Given the description of an element on the screen output the (x, y) to click on. 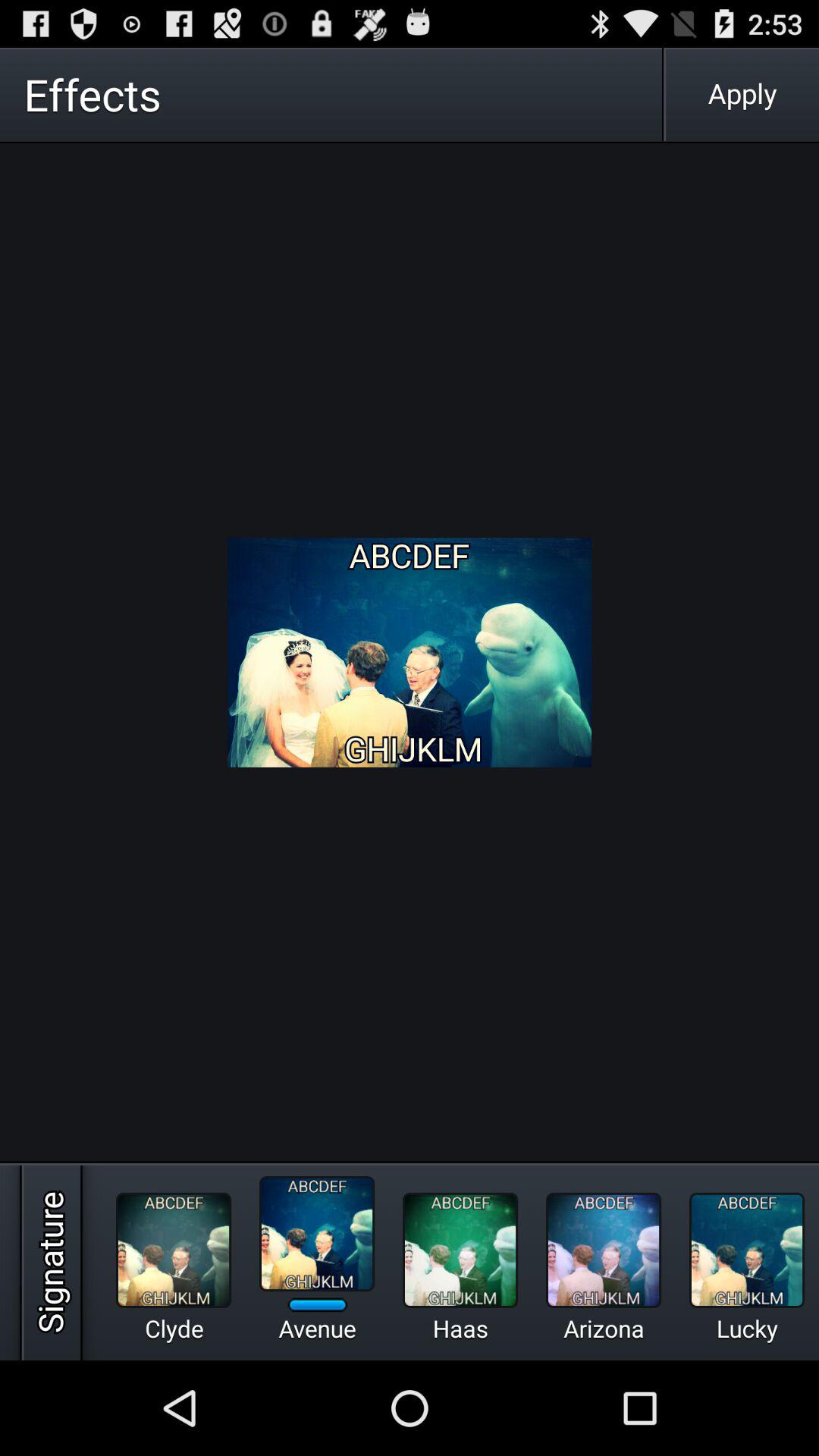
open apply item (742, 93)
